Given the description of an element on the screen output the (x, y) to click on. 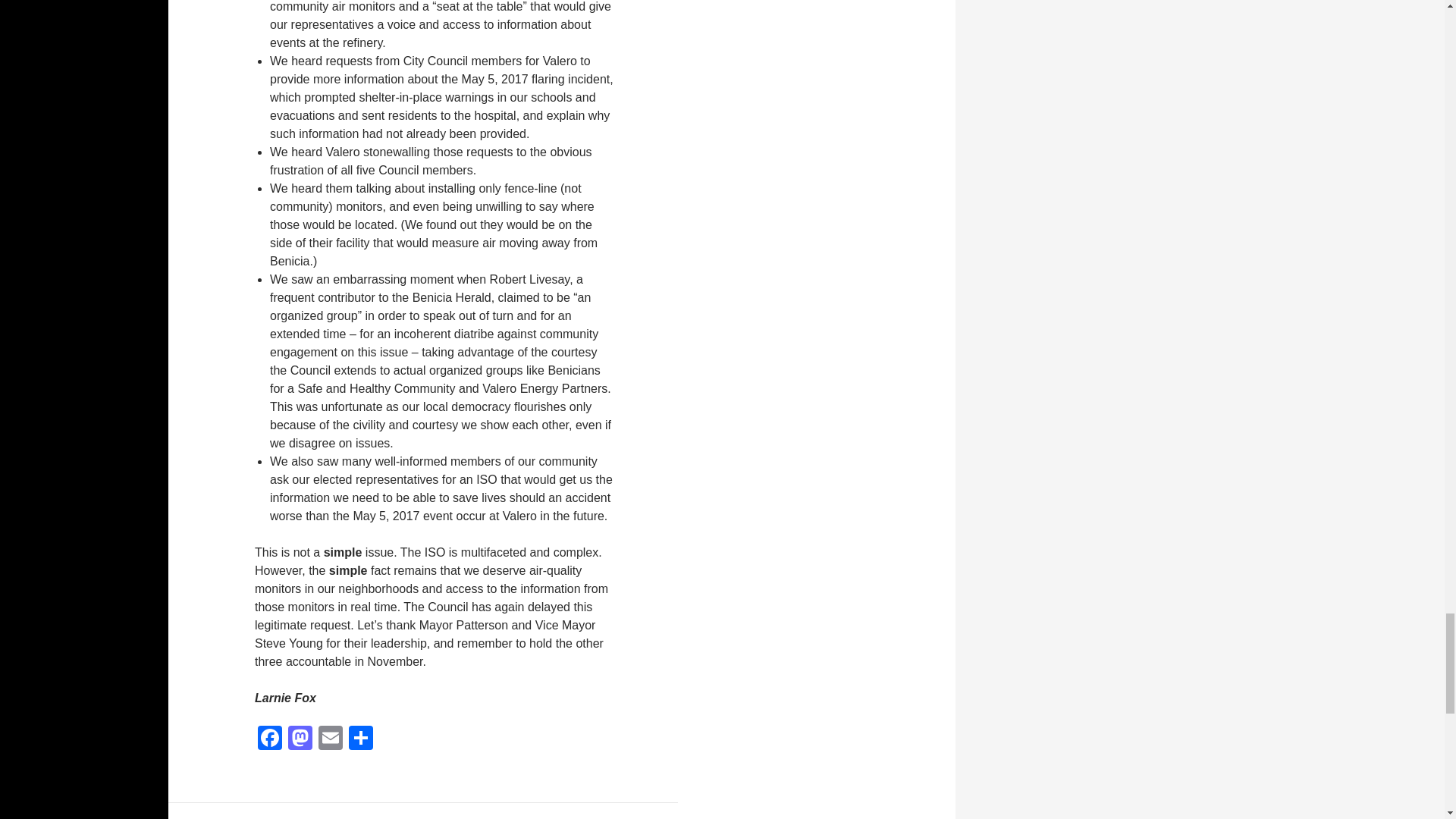
Email (330, 739)
Facebook (269, 739)
Mastodon (300, 739)
